Given the description of an element on the screen output the (x, y) to click on. 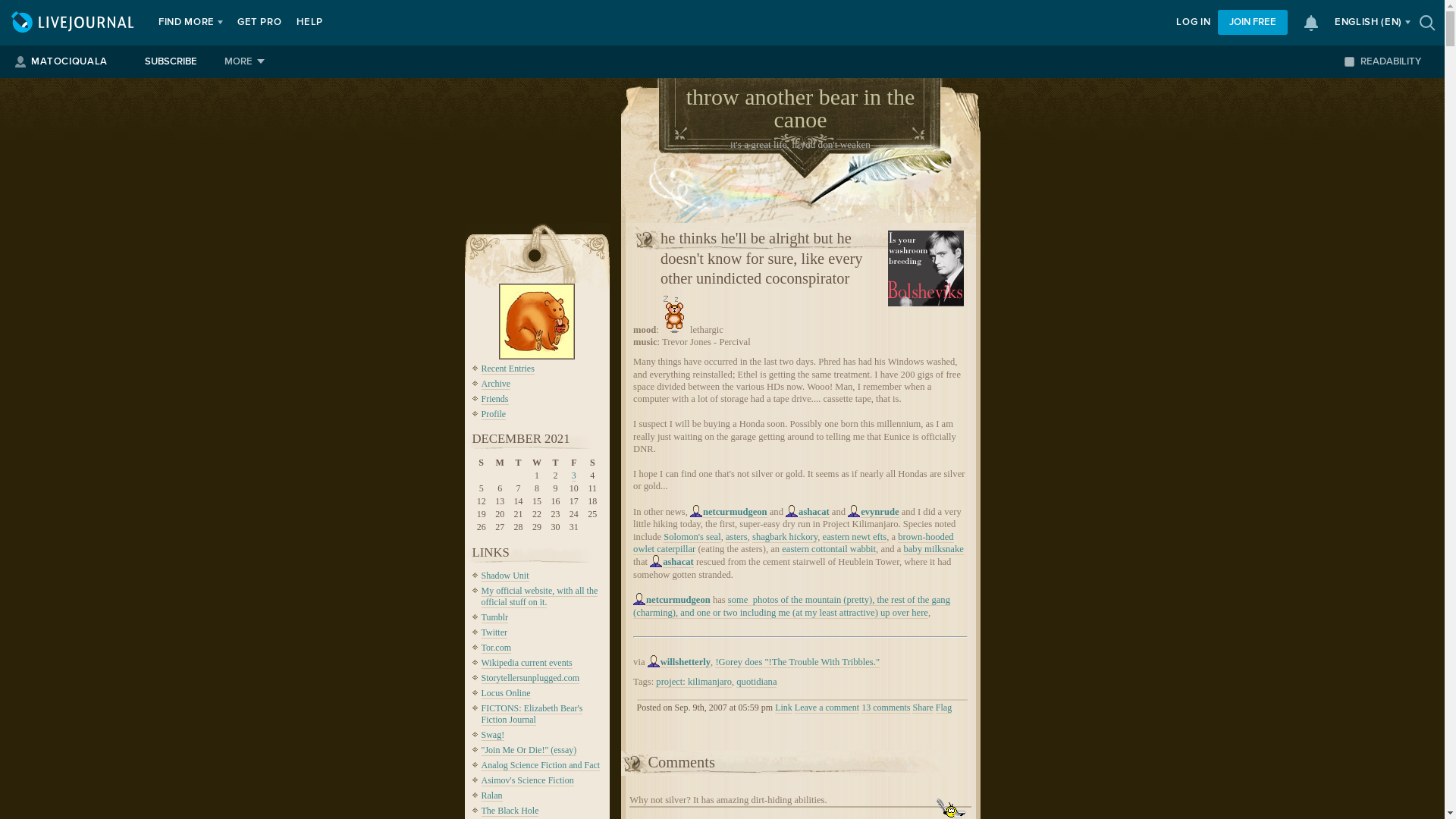
LOG IN (1193, 22)
SUBSCRIBE (170, 61)
JOIN FREE (1252, 22)
MATOCIQUALA (68, 61)
FIND MORE (186, 22)
on (1348, 61)
MORE (244, 61)
GET PRO (259, 22)
HELP (309, 22)
LIVEJOURNAL (73, 22)
